Given the description of an element on the screen output the (x, y) to click on. 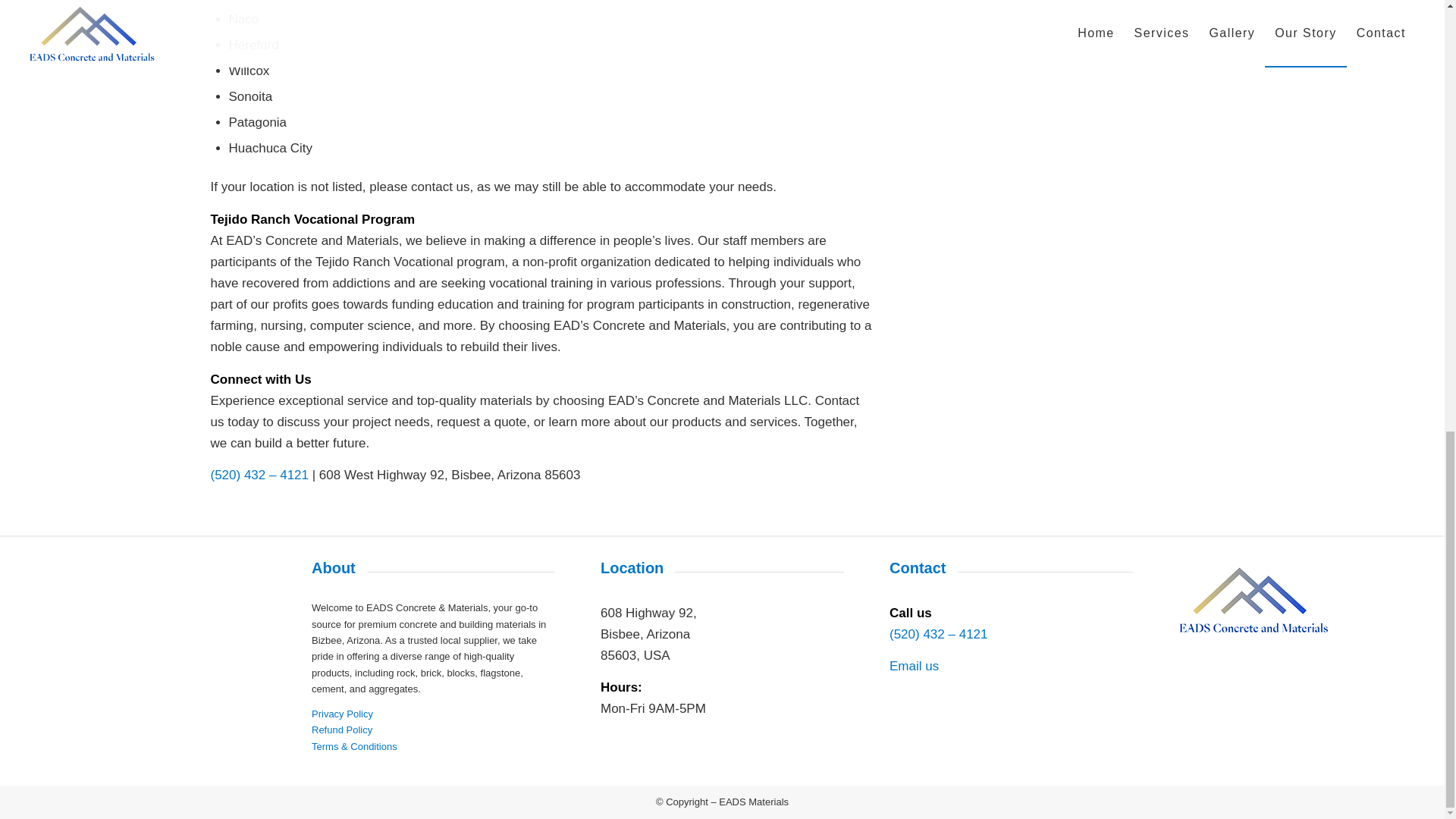
EADS-Logo-New-1024x682 (1253, 599)
Privacy Policy (341, 713)
Email us (914, 666)
Refund Policy (341, 729)
